Given the description of an element on the screen output the (x, y) to click on. 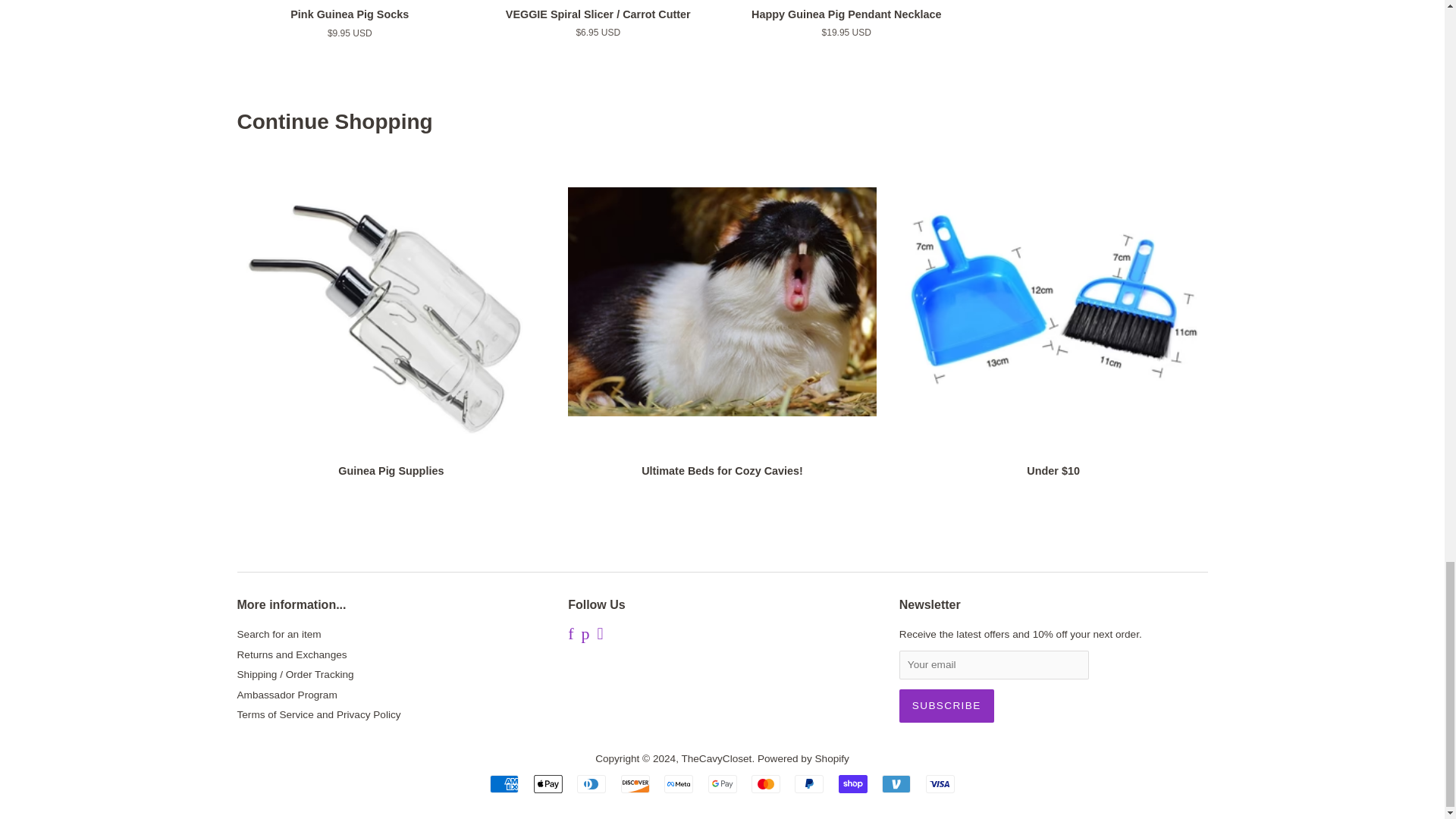
Apple Pay (548, 783)
Meta Pay (678, 783)
Google Pay (721, 783)
Diners Club (590, 783)
Mastercard (765, 783)
Venmo (896, 783)
Visa (940, 783)
Discover (635, 783)
Shop Pay (852, 783)
Subscribe (946, 705)
American Express (503, 783)
PayPal (809, 783)
